Given the description of an element on the screen output the (x, y) to click on. 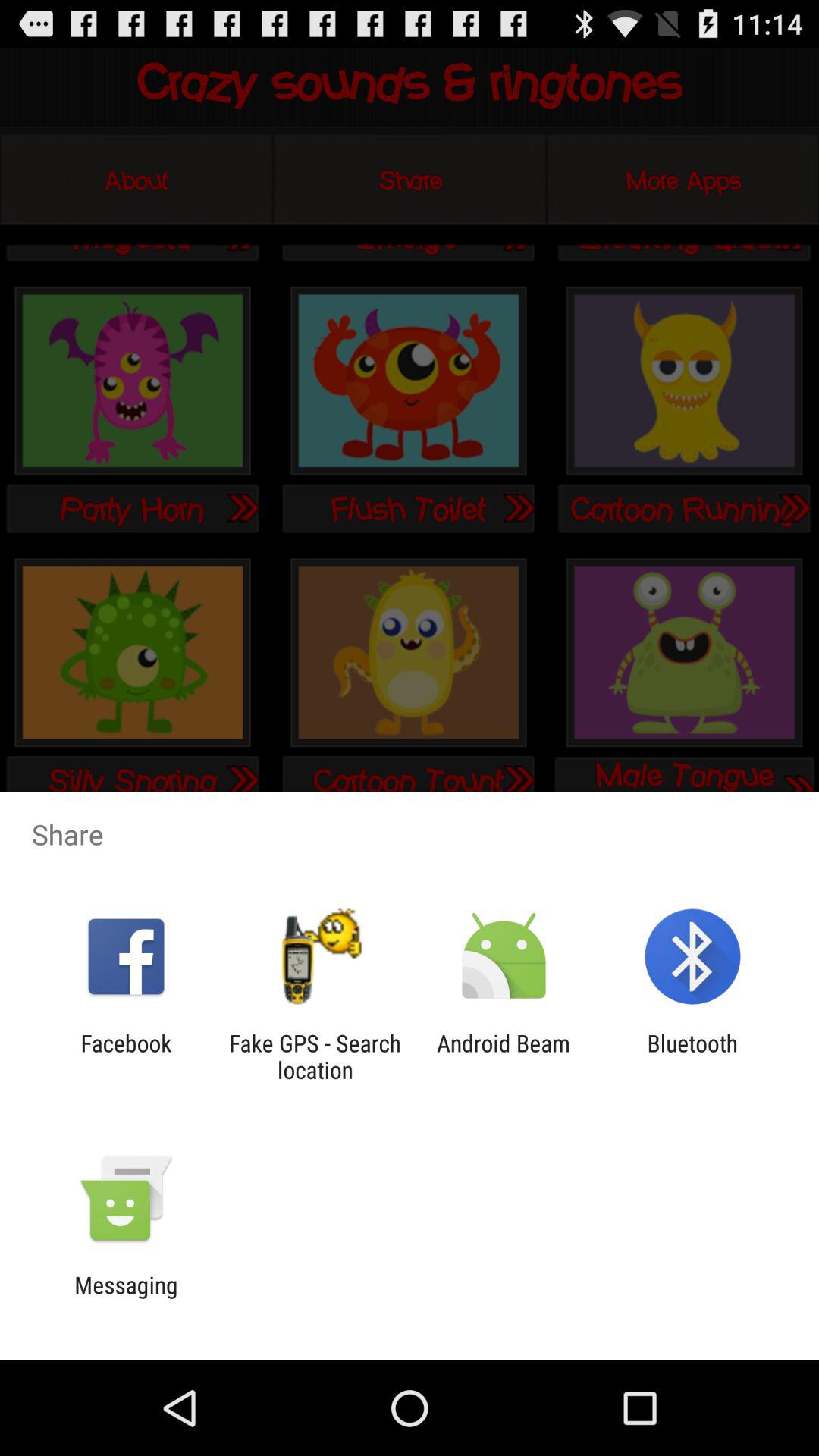
scroll until the fake gps search (314, 1056)
